Given the description of an element on the screen output the (x, y) to click on. 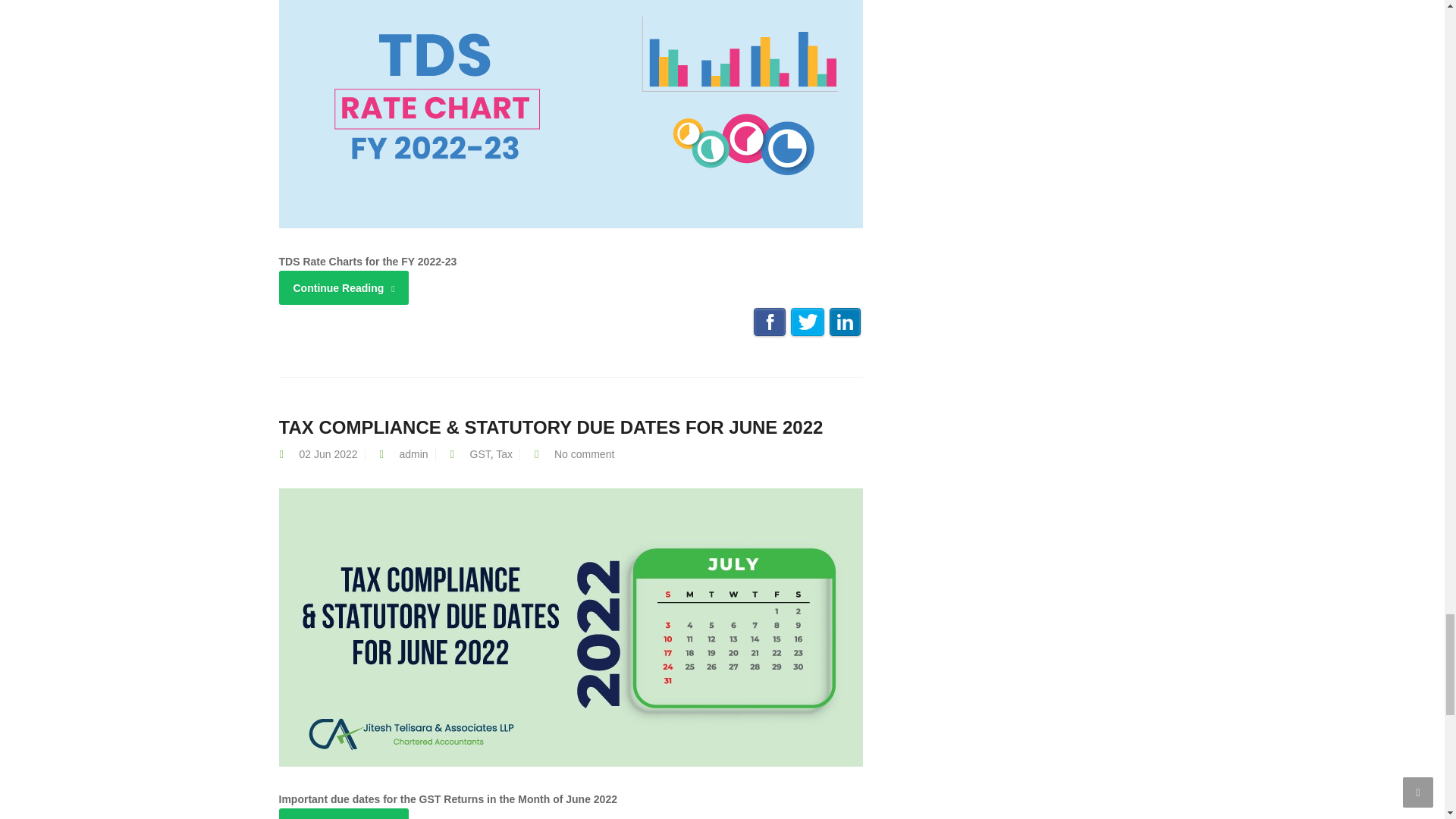
View all posts by admin (413, 453)
